Given the description of an element on the screen output the (x, y) to click on. 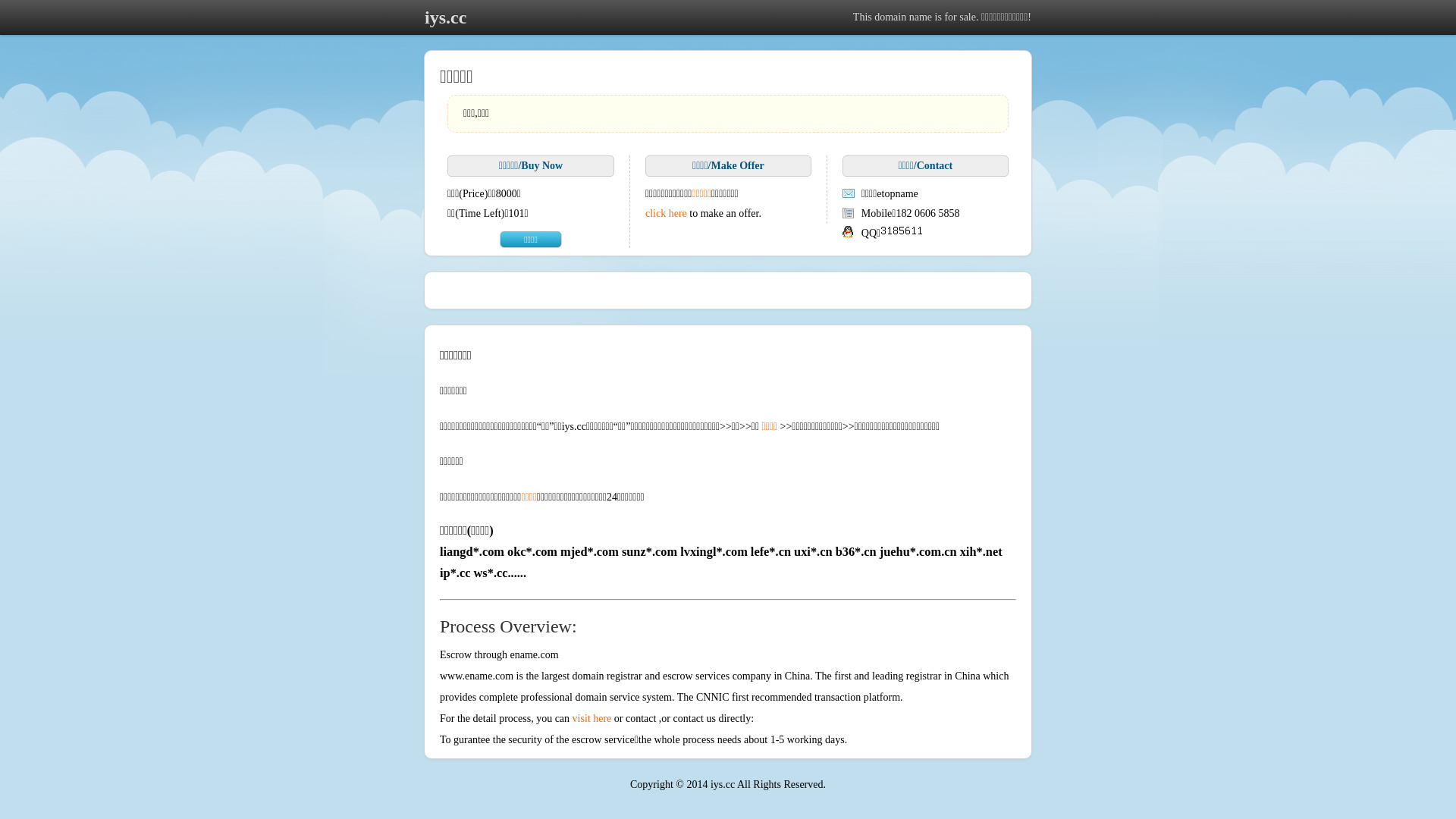
click here Element type: text (666, 213)
visit here Element type: text (591, 718)
